Given the description of an element on the screen output the (x, y) to click on. 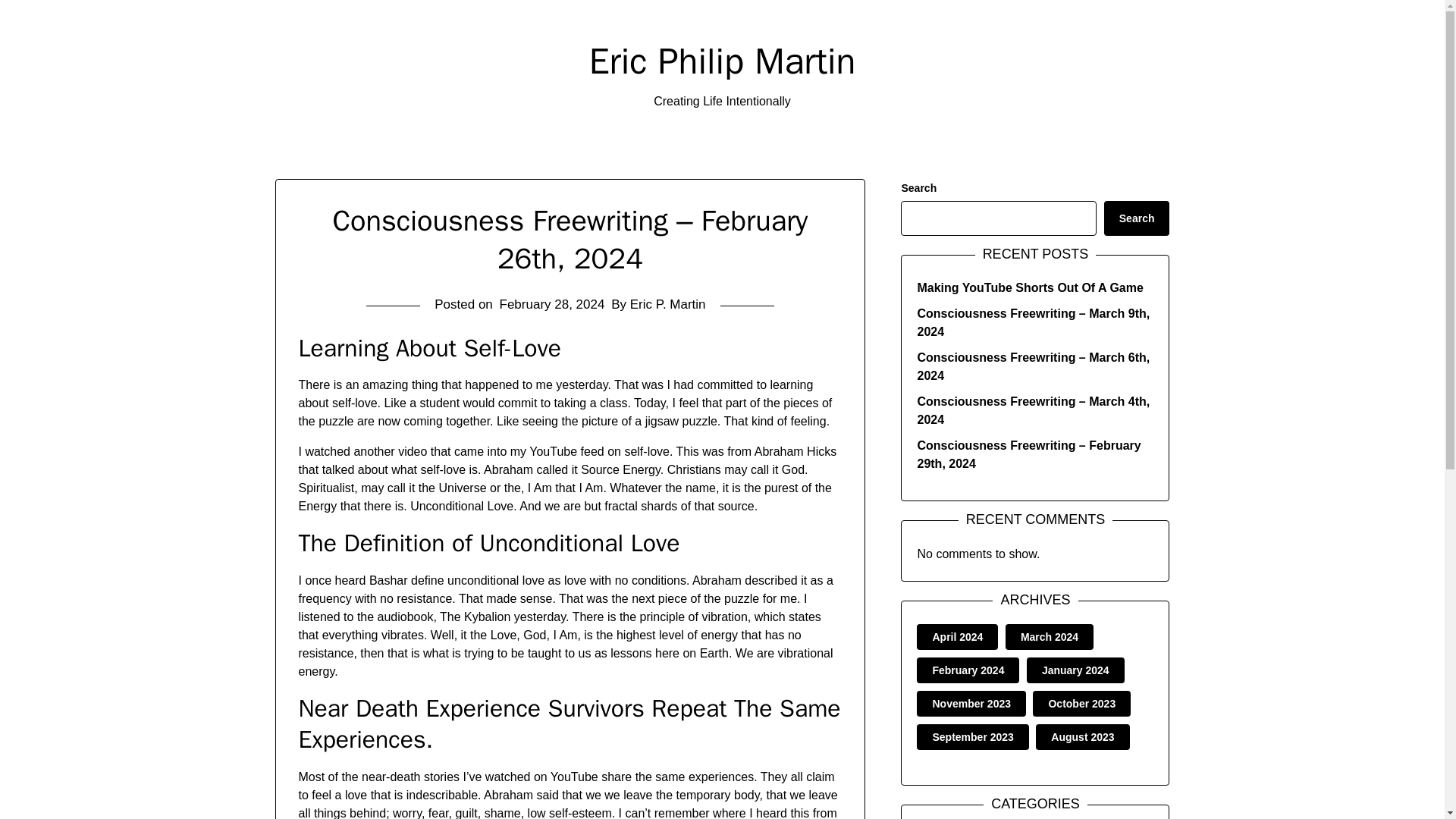
Making YouTube Shorts Out Of A Game (1029, 287)
September 2023 (972, 736)
August 2023 (1082, 736)
April 2024 (956, 636)
January 2024 (1075, 670)
February 28, 2024 (552, 304)
March 2024 (1049, 636)
November 2023 (970, 703)
Eric Philip Martin (721, 61)
October 2023 (1081, 703)
